Given the description of an element on the screen output the (x, y) to click on. 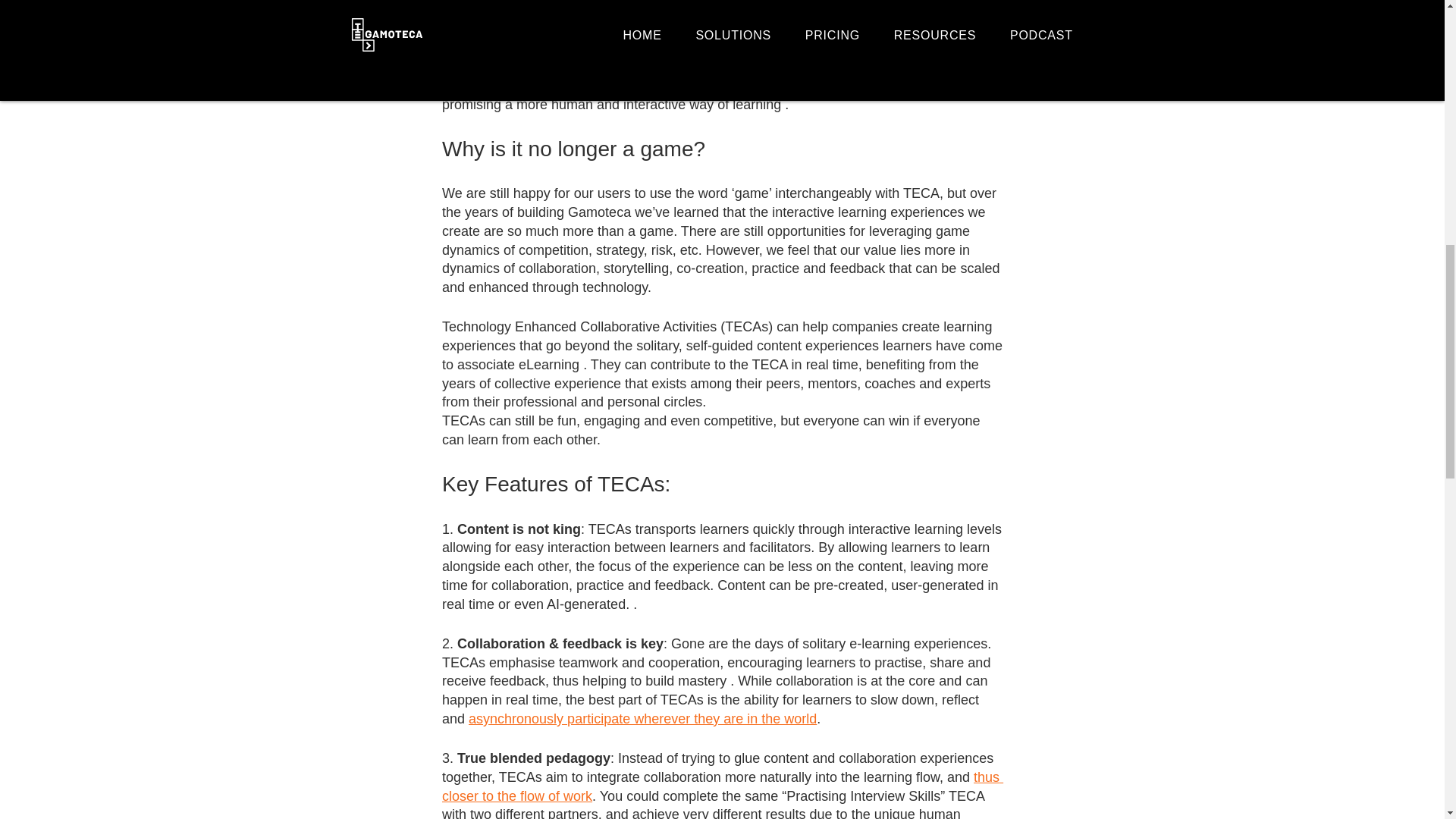
asynchronously participate wherever they are in the world (642, 718)
thus closer to the flow of work (722, 786)
researching serious games to enhance learning outcomes (720, 8)
